Given the description of an element on the screen output the (x, y) to click on. 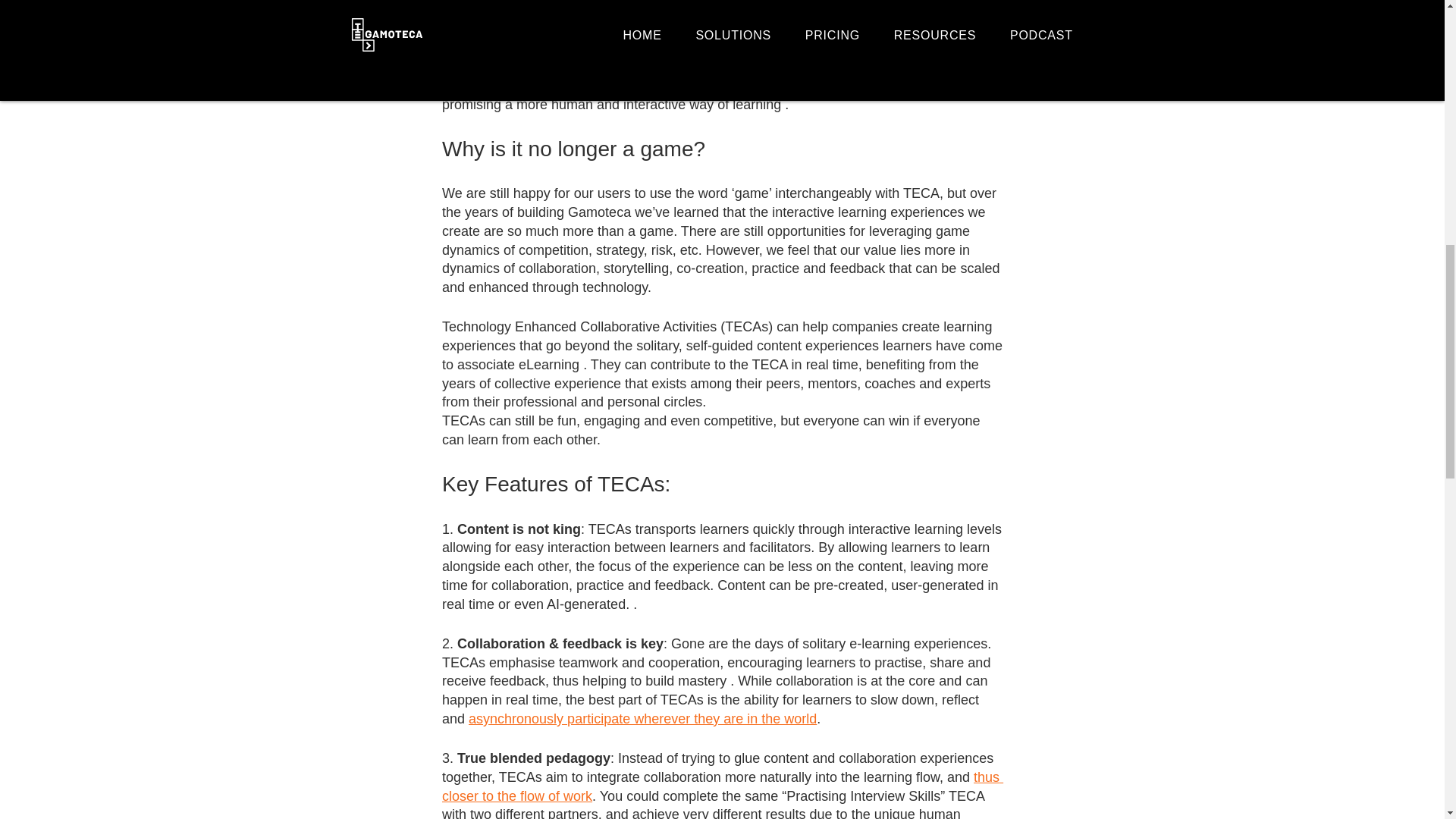
asynchronously participate wherever they are in the world (642, 718)
thus closer to the flow of work (722, 786)
researching serious games to enhance learning outcomes (720, 8)
